Given the description of an element on the screen output the (x, y) to click on. 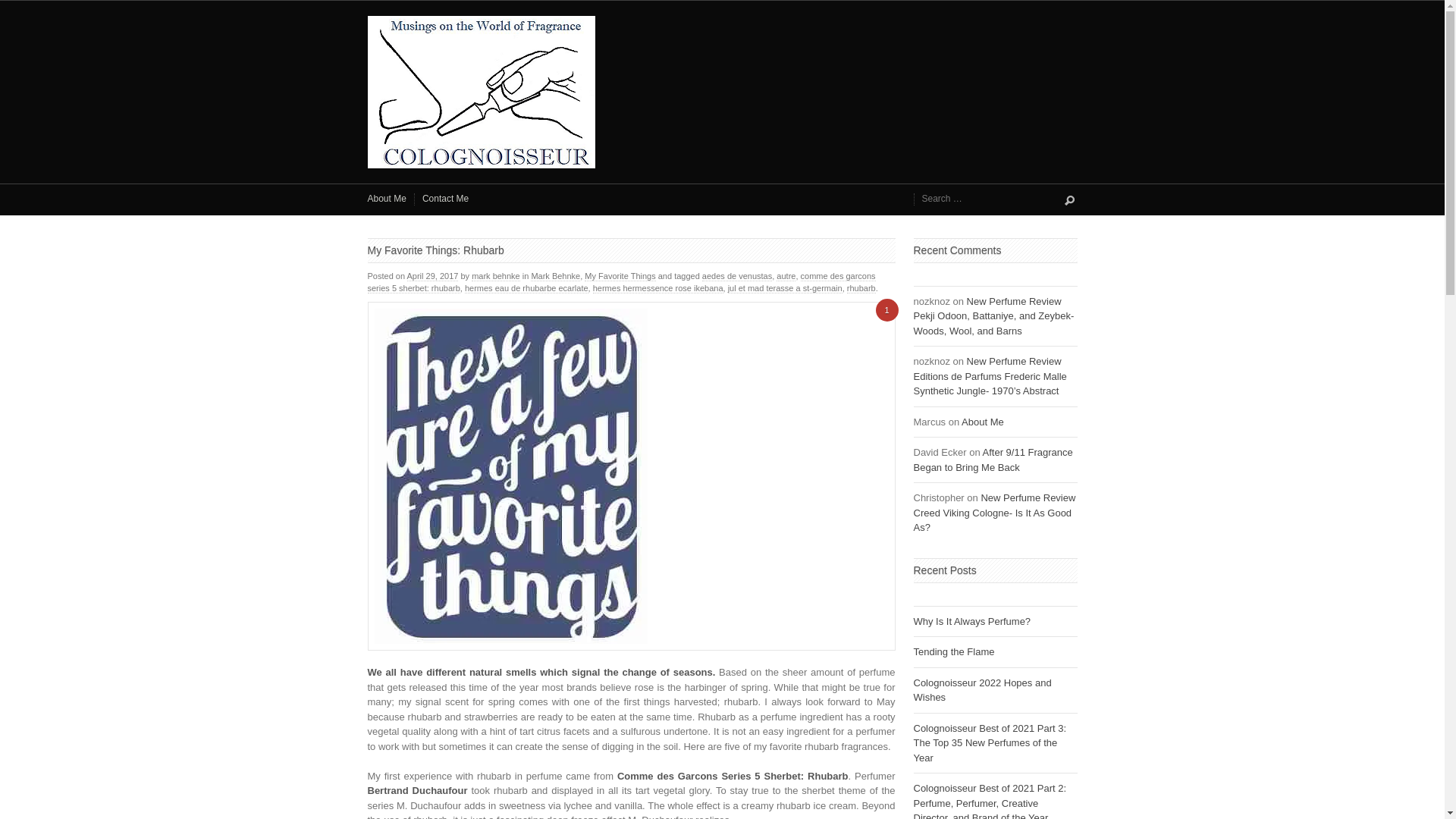
jul et mad terasse a st-germain (785, 288)
Mark Behnke (555, 276)
12:18 am (432, 276)
About Me (982, 421)
New Perfume Review Creed Viking Cologne- Is It As Good As? (993, 512)
hermes hermessence rose ikebana (657, 288)
autre (785, 276)
1 (886, 309)
View all posts by mark behnke (495, 276)
About Me (386, 198)
Contact Me (445, 198)
Colognoisseur (721, 91)
